Given the description of an element on the screen output the (x, y) to click on. 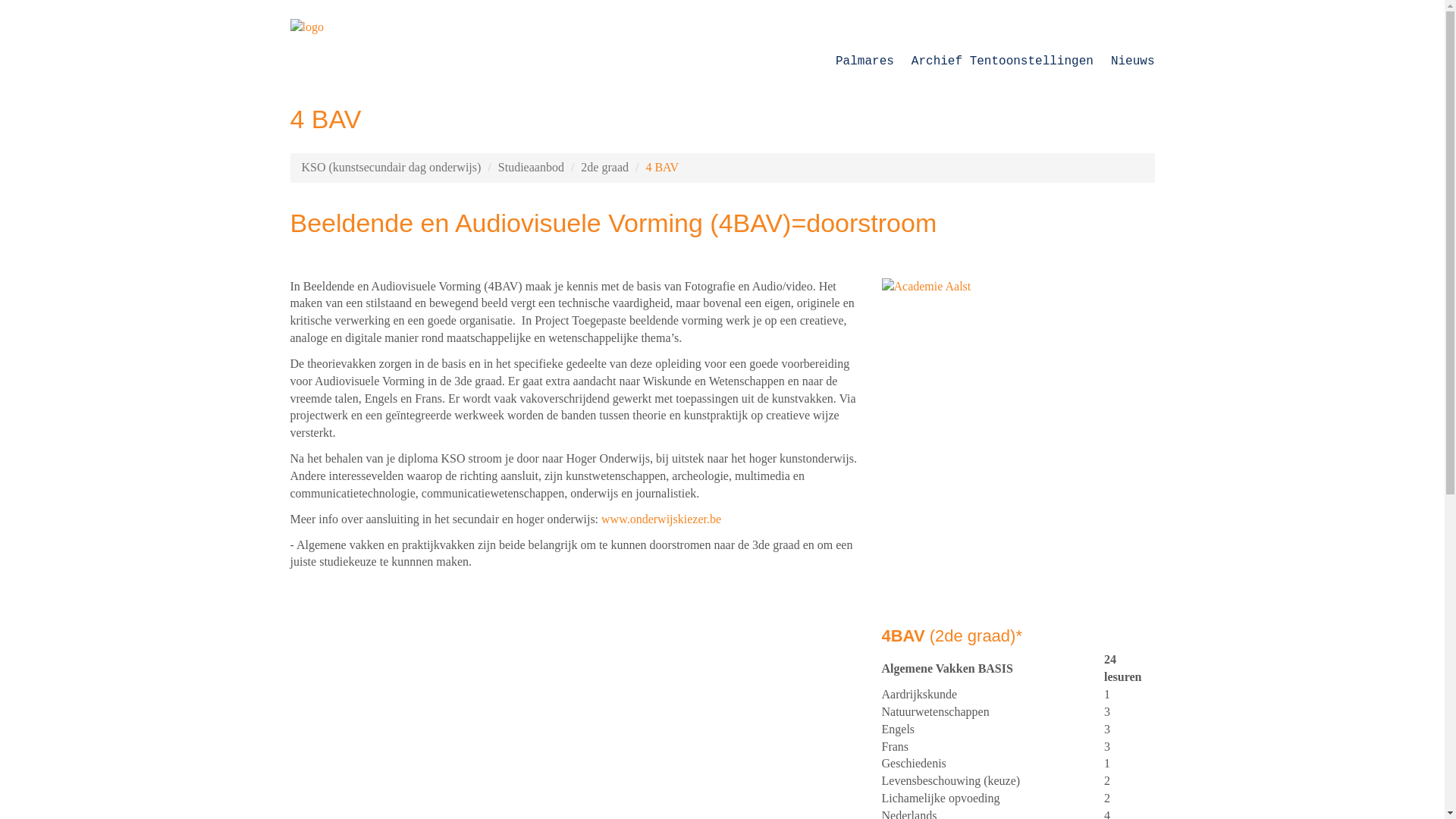
KSO (kunstsecundair dag onderwijs) Element type: text (391, 166)
2de graad Element type: text (604, 166)
Archief Tentoonstellingen Element type: text (1002, 65)
www.onderwijskiezer.be Element type: text (661, 518)
Nieuws Element type: text (1132, 65)
Palmares Element type: text (864, 65)
4 BAV Element type: text (661, 166)
Studieaanbod Element type: text (531, 166)
